Given the description of an element on the screen output the (x, y) to click on. 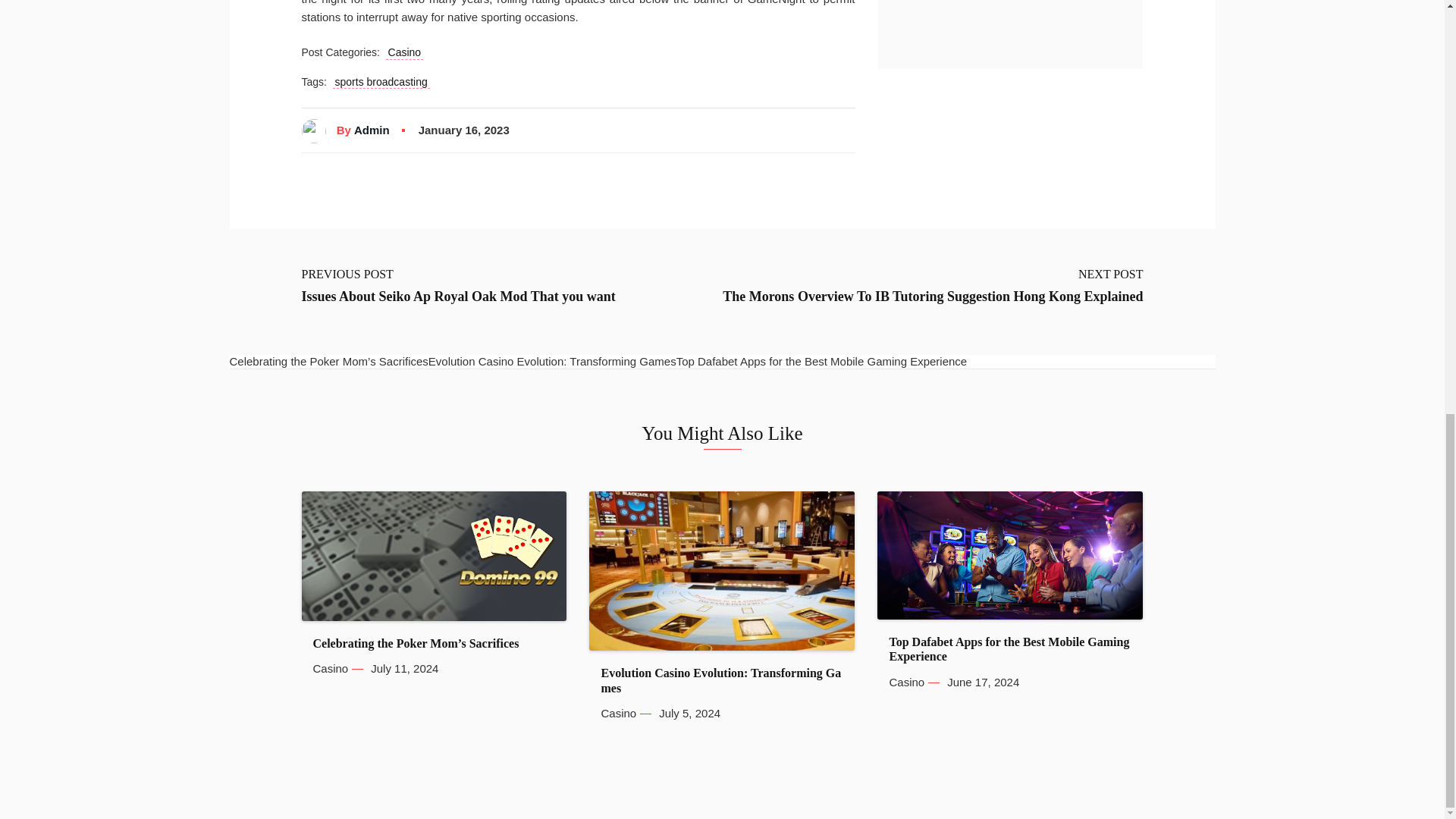
July 11, 2024 (404, 668)
Admin (371, 129)
Casino (404, 52)
sports broadcasting (381, 82)
Casino (330, 668)
Issues About Seiko Ap Royal Oak Mod That you want (458, 297)
